Given the description of an element on the screen output the (x, y) to click on. 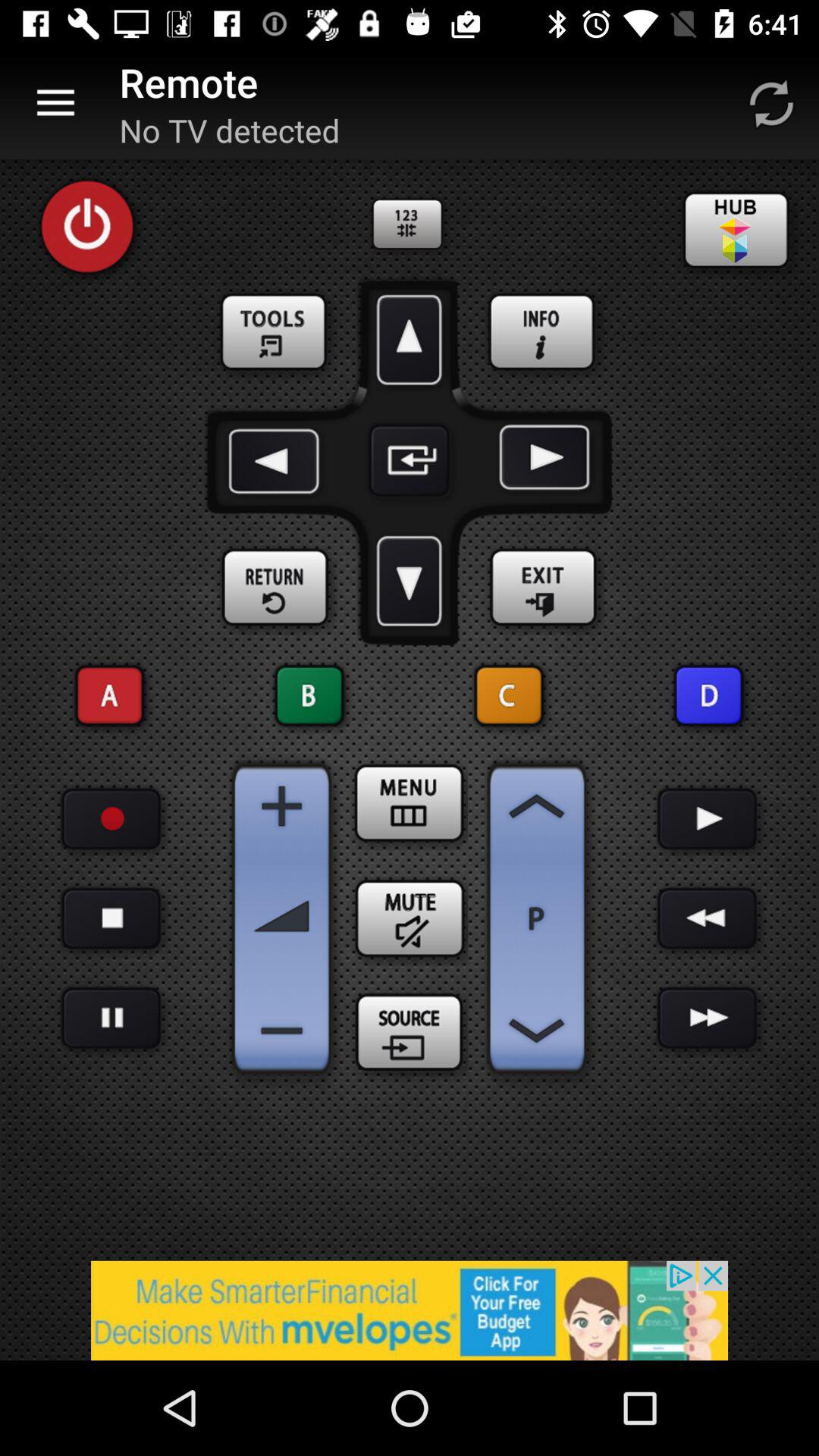
fast forward (707, 1018)
